Given the description of an element on the screen output the (x, y) to click on. 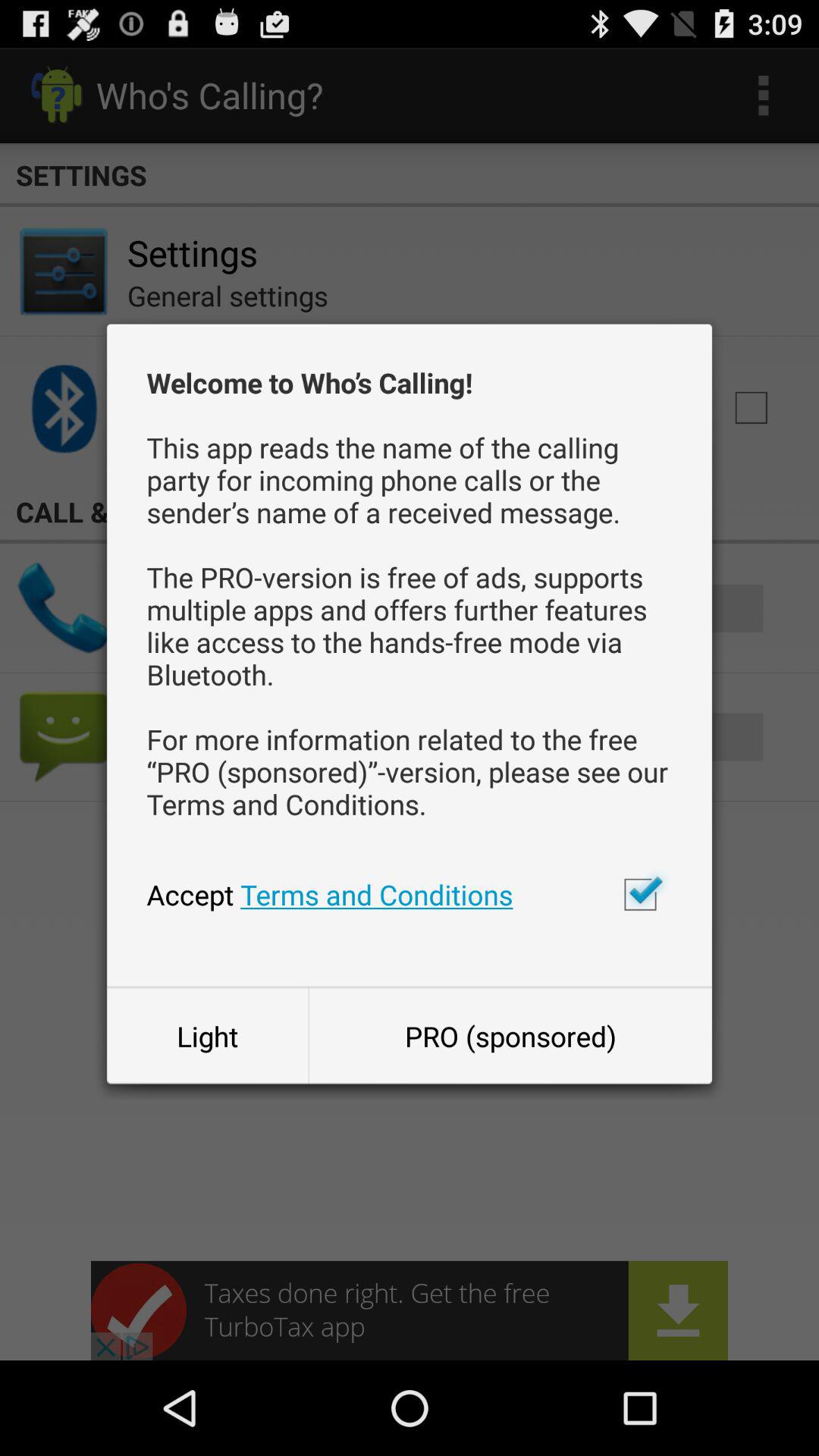
choose the pro (sponsored) icon (510, 1036)
